Given the description of an element on the screen output the (x, y) to click on. 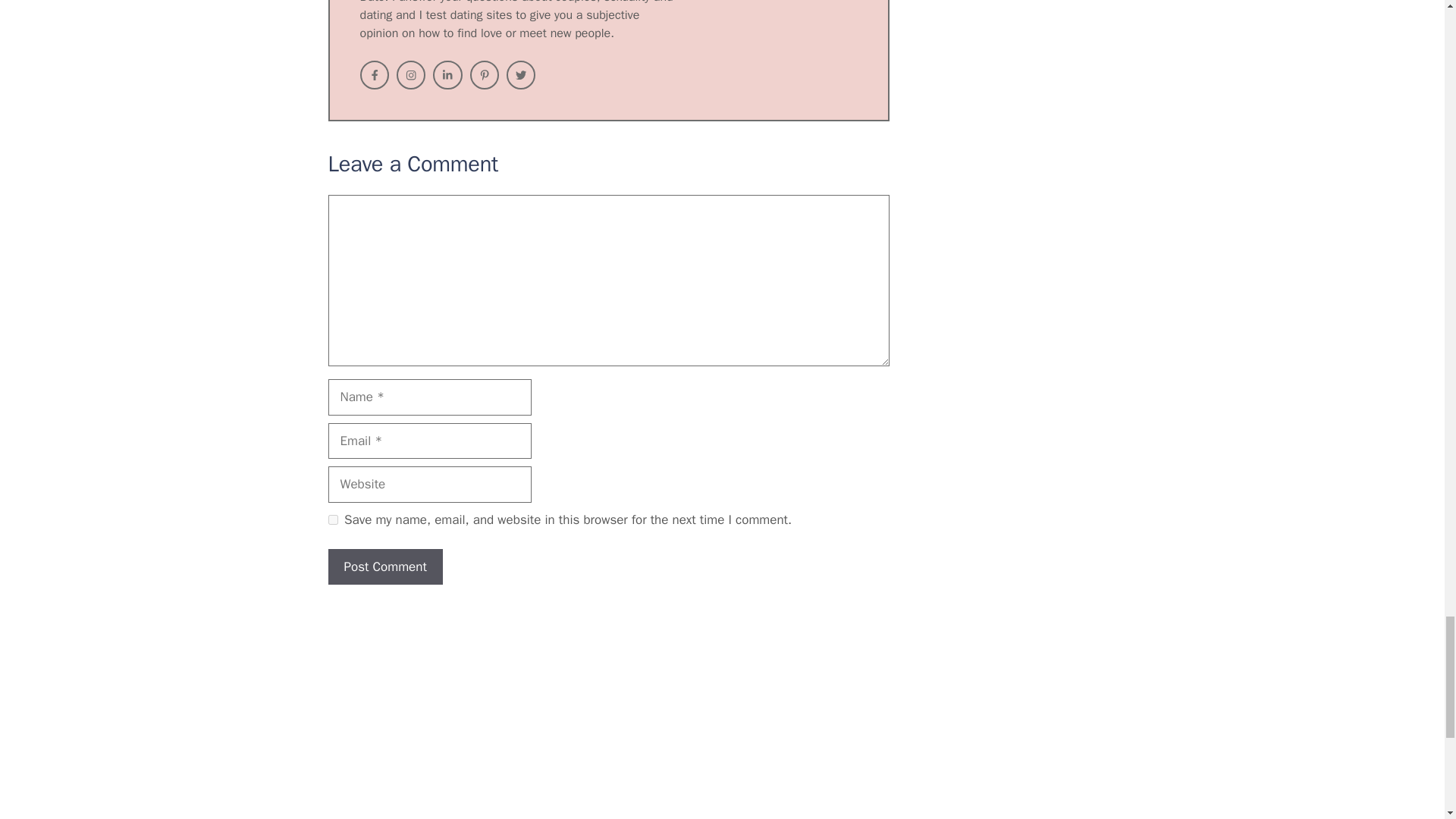
yes (332, 519)
Post Comment (384, 566)
